Given the description of an element on the screen output the (x, y) to click on. 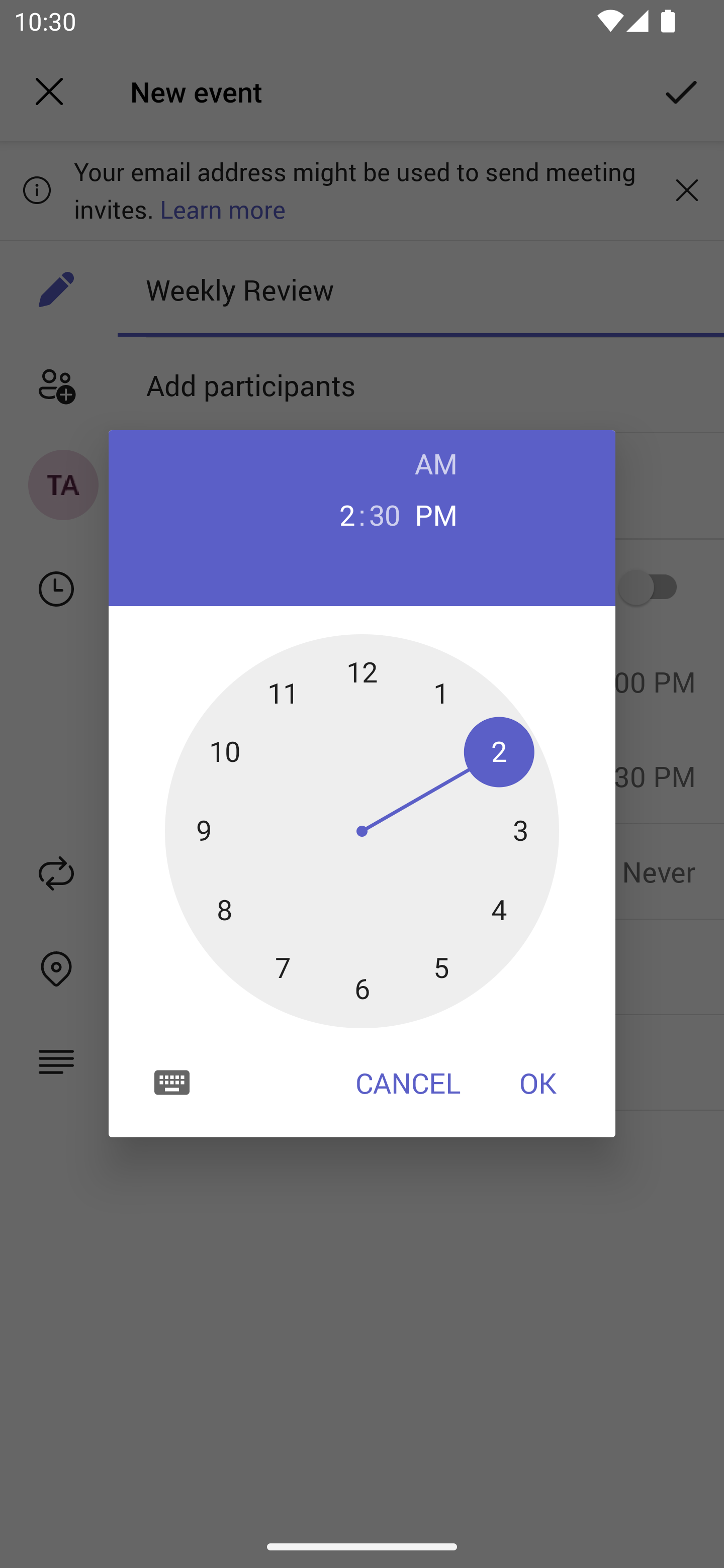
AM (435, 463)
PM (435, 514)
2 (338, 514)
30 (384, 514)
CANCEL (407, 1082)
OK (537, 1082)
Switch to text input mode for the time input. (171, 1081)
